Given the description of an element on the screen output the (x, y) to click on. 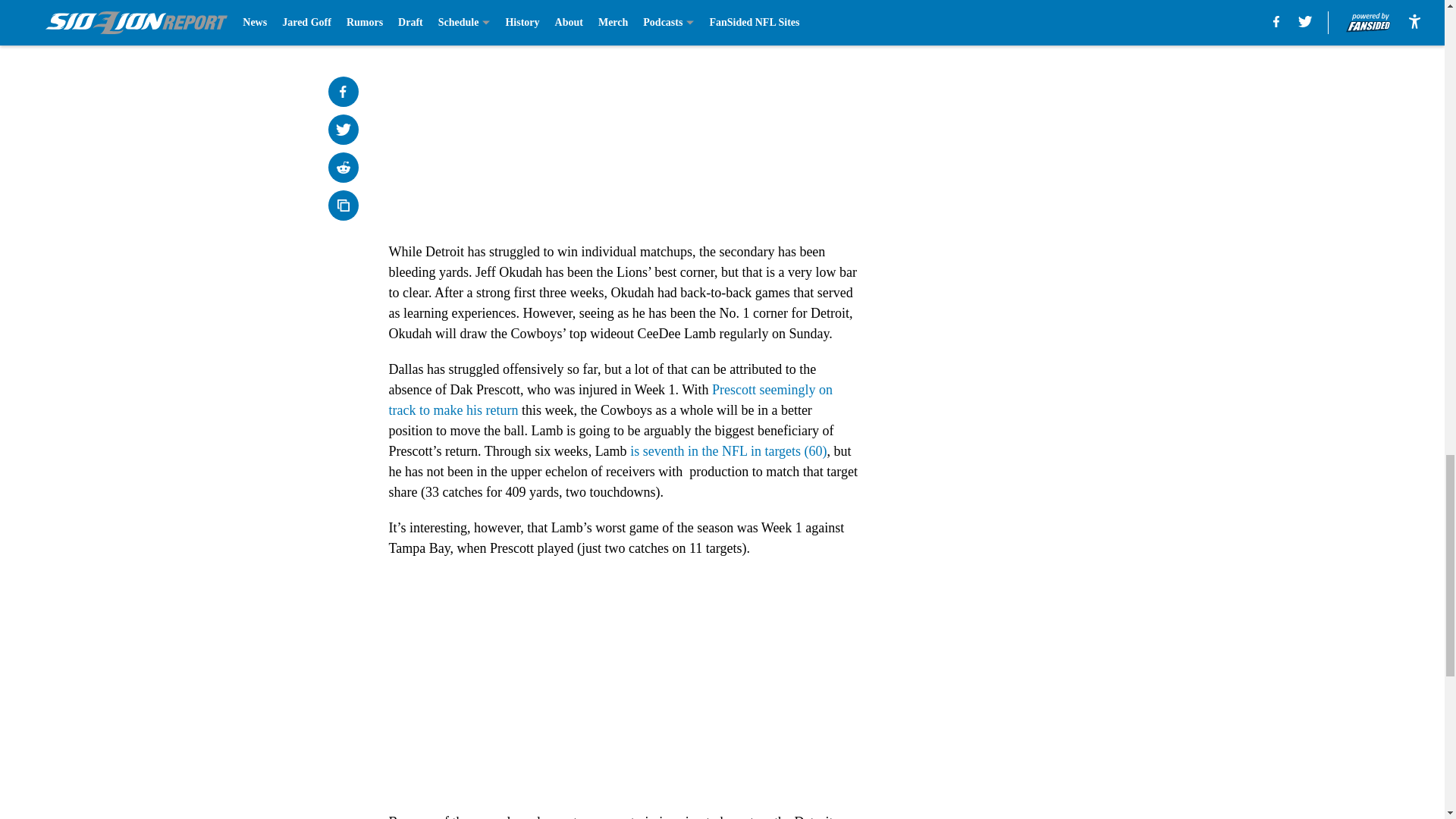
Prescott seemingly on track to make his return (610, 399)
